Given the description of an element on the screen output the (x, y) to click on. 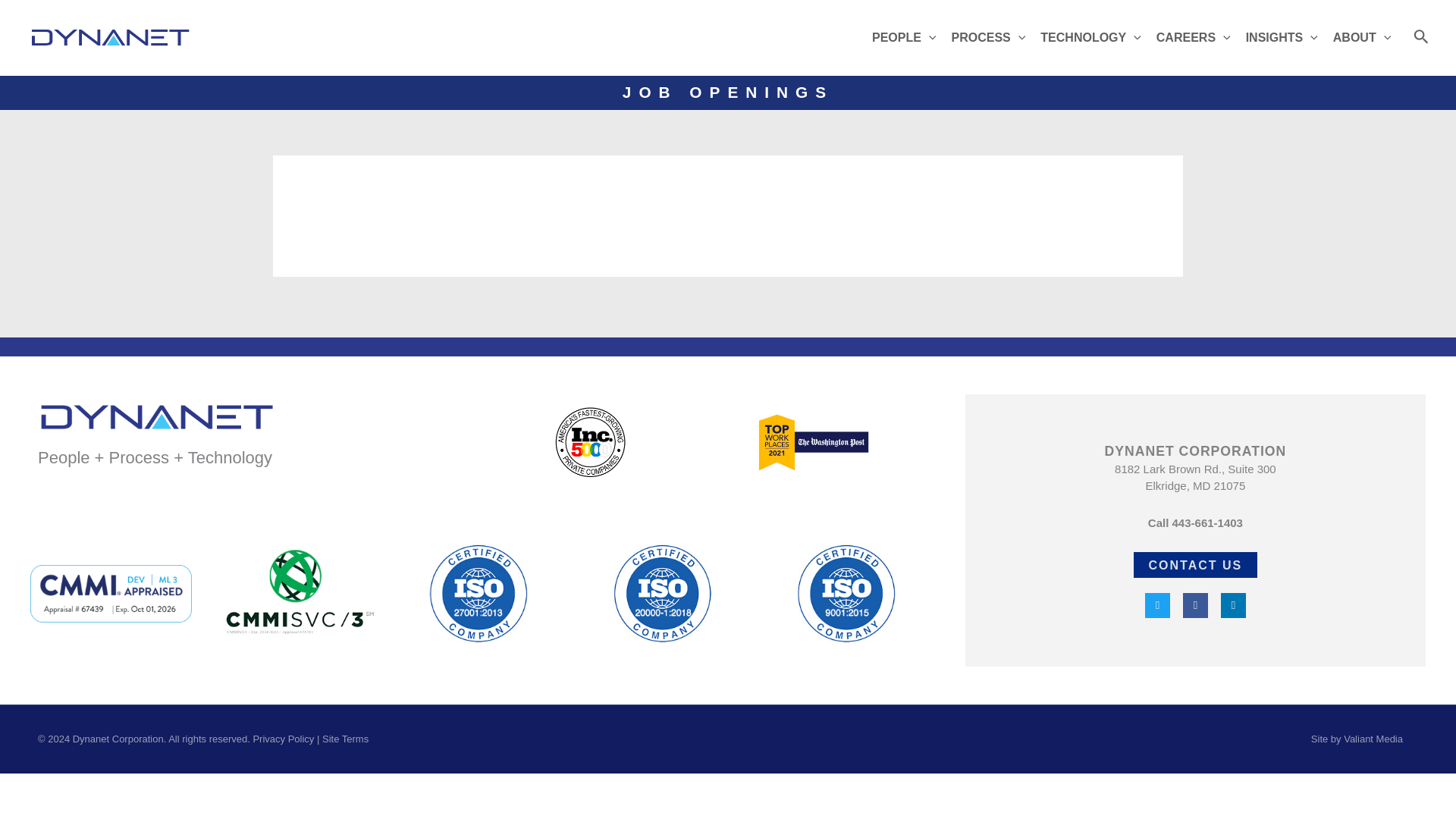
PROCESS (987, 38)
ABOUT (1360, 38)
CAREERS (1193, 38)
TECHNOLOGY (1090, 38)
INSIGHTS (1281, 38)
PEOPLE (903, 38)
